Given the description of an element on the screen output the (x, y) to click on. 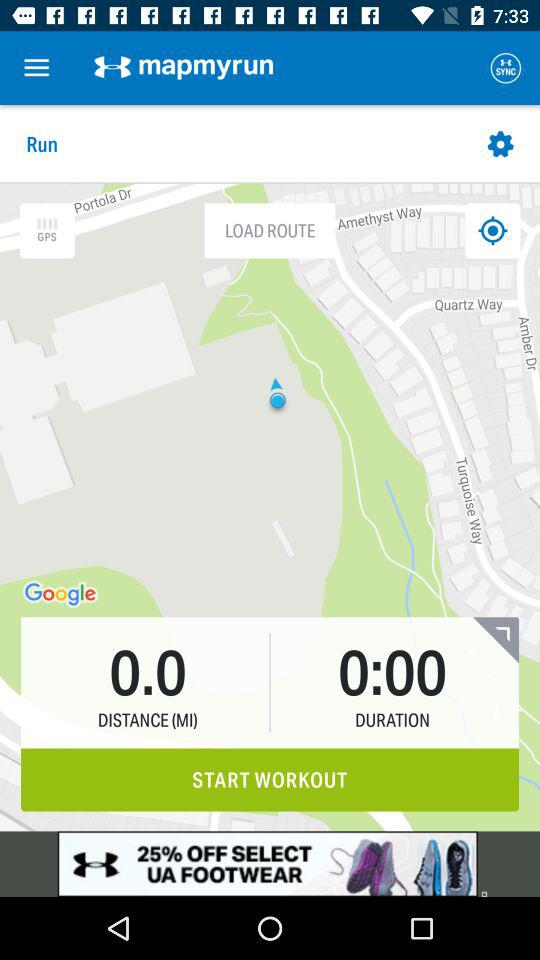
click to the location (492, 230)
